Given the description of an element on the screen output the (x, y) to click on. 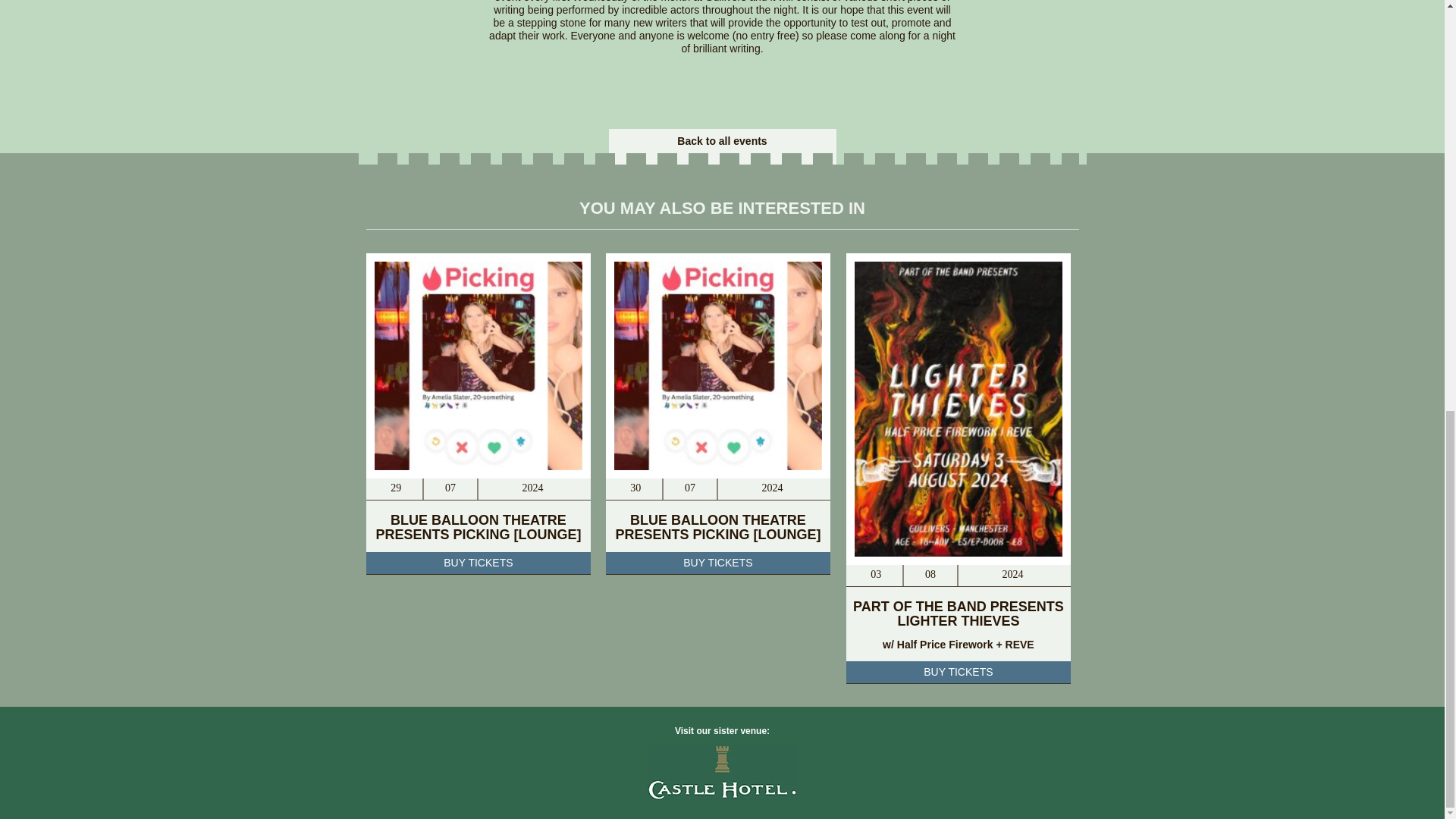
PART OF THE BAND PRESENTS LIGHTER THIEVES (958, 613)
BUY TICKETS (717, 563)
BUY TICKETS (478, 563)
Back to all events (722, 141)
BUY TICKETS (958, 671)
